Given the description of an element on the screen output the (x, y) to click on. 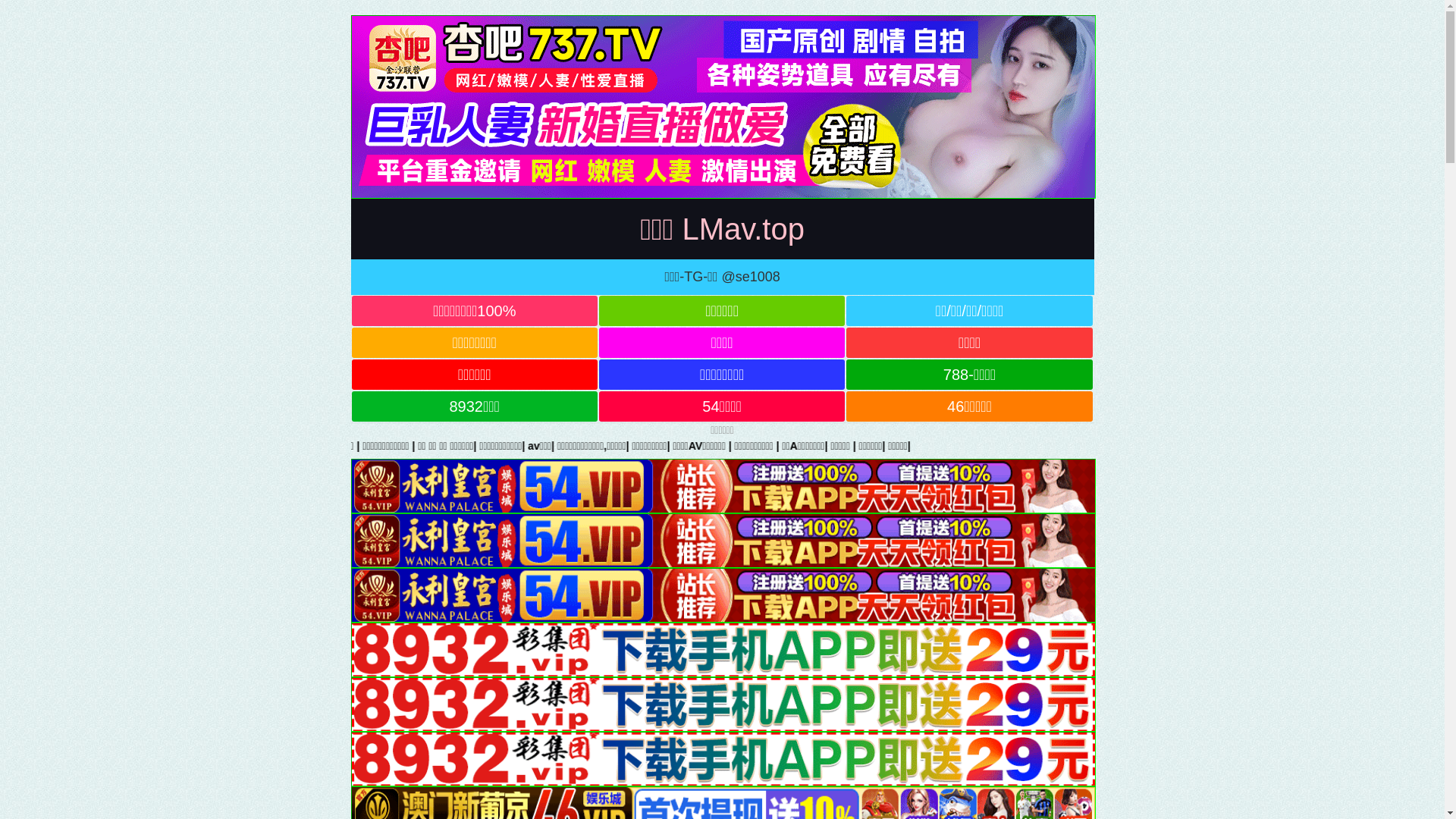
| Element type: text (1260, 445)
| Element type: text (239, 445)
| Element type: text (599, 445)
| Element type: text (355, 445)
| Element type: text (1311, 445)
| Element type: text (751, 445)
| Element type: text (193, 445)
| Element type: text (93, 445)
| Element type: text (894, 445)
| Element type: text (552, 445)
| Element type: text (1140, 445)
| Element type: text (719, 445)
| Element type: text (431, 445)
| Element type: text (1186, 445)
| Element type: text (781, 445)
| Element type: text (1080, 445)
| Element type: text (1233, 445)
| Element type: text (26, 445)
| Element type: text (1287, 445)
| Element type: text (143, 445)
| Element type: text (490, 445)
| Element type: text (968, 445)
| Element type: text (834, 445)
| Element type: text (1041, 445)
| Element type: text (646, 445)
| Element type: text (392, 445)
| Element type: text (941, 445)
| Element type: text (684, 445)
| Element type: text (293, 445)
